Given the description of an element on the screen output the (x, y) to click on. 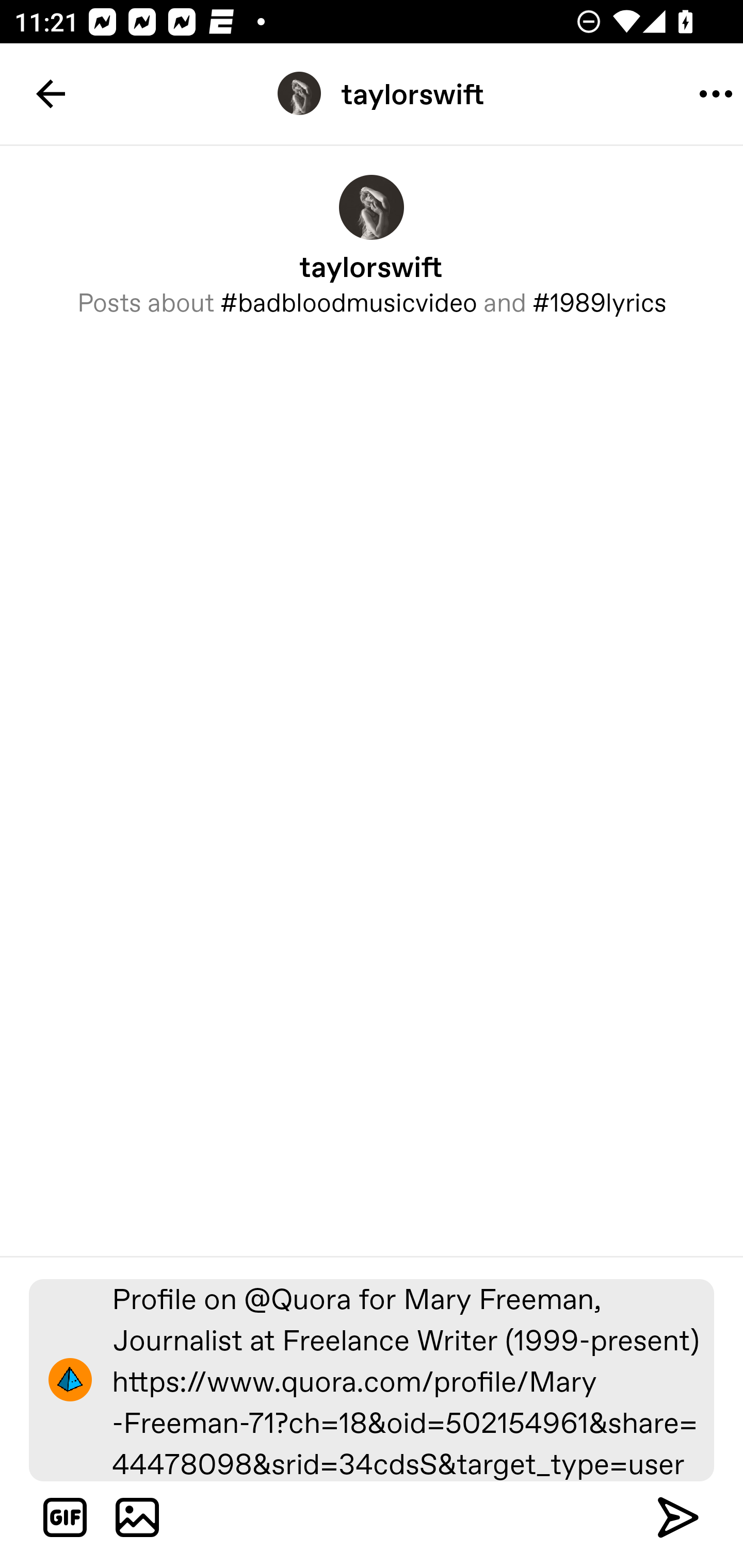
Navigate up (50, 93)
taylorswift (371, 92)
